Given the description of an element on the screen output the (x, y) to click on. 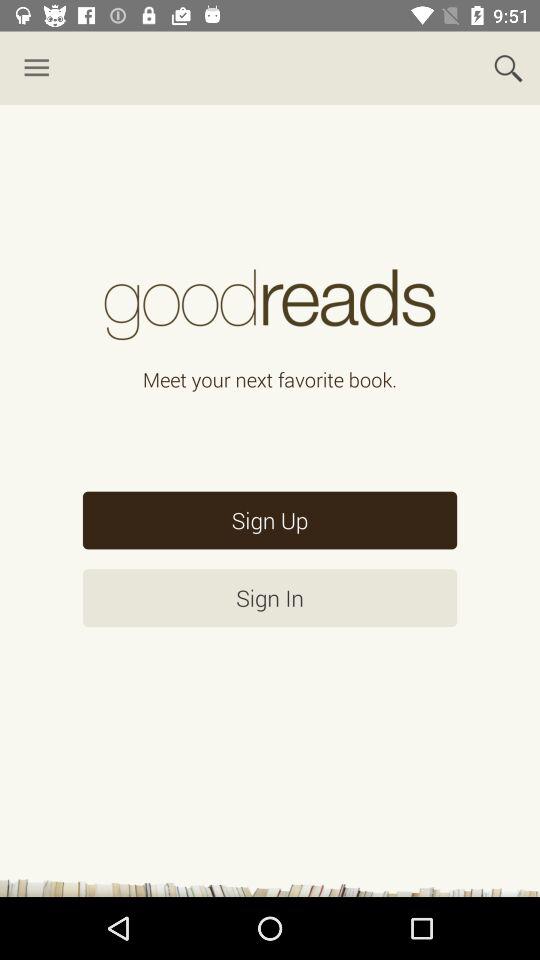
jump to sign in (269, 597)
